Given the description of an element on the screen output the (x, y) to click on. 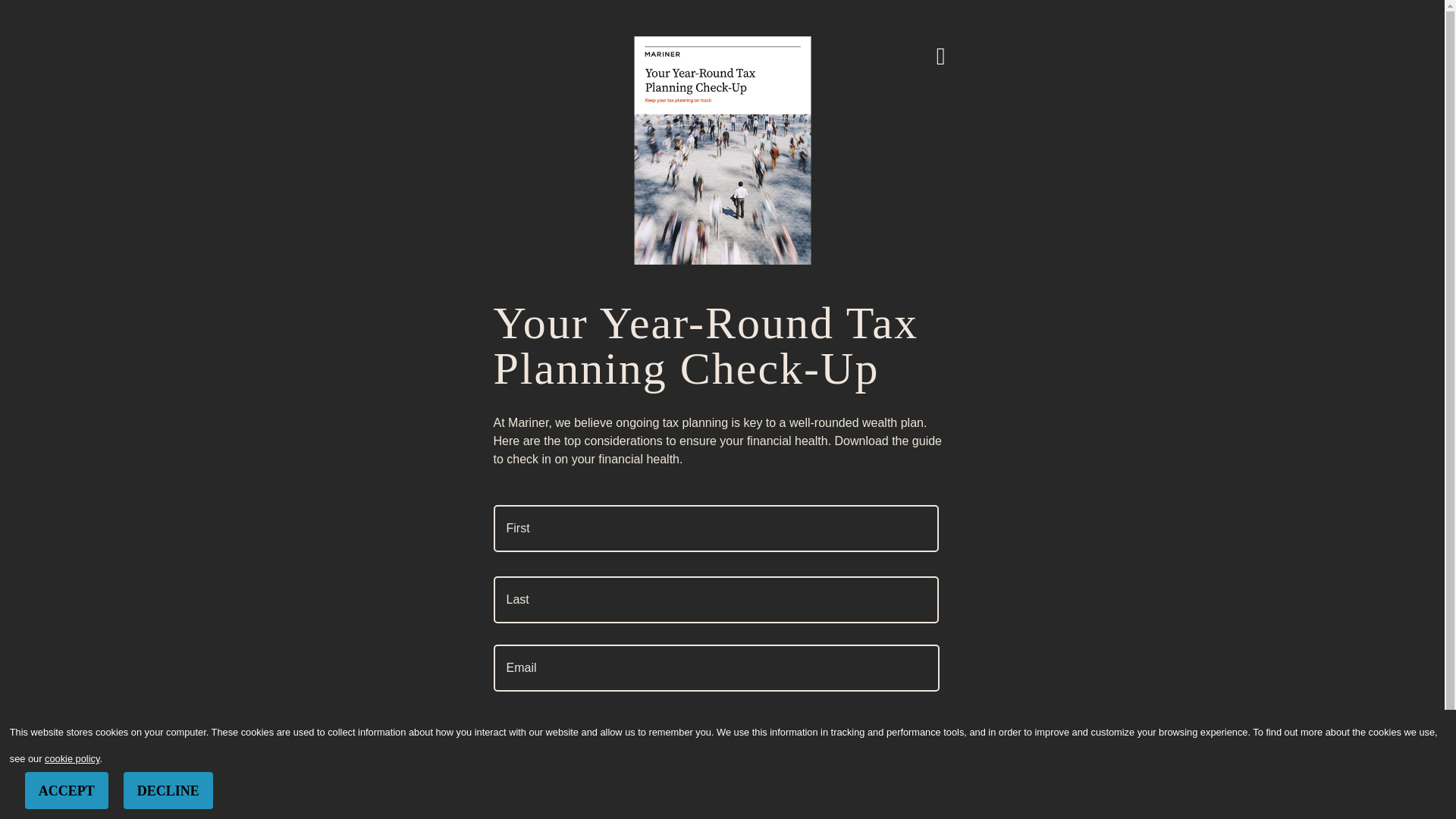
Download Now (576, 2)
